Given the description of an element on the screen output the (x, y) to click on. 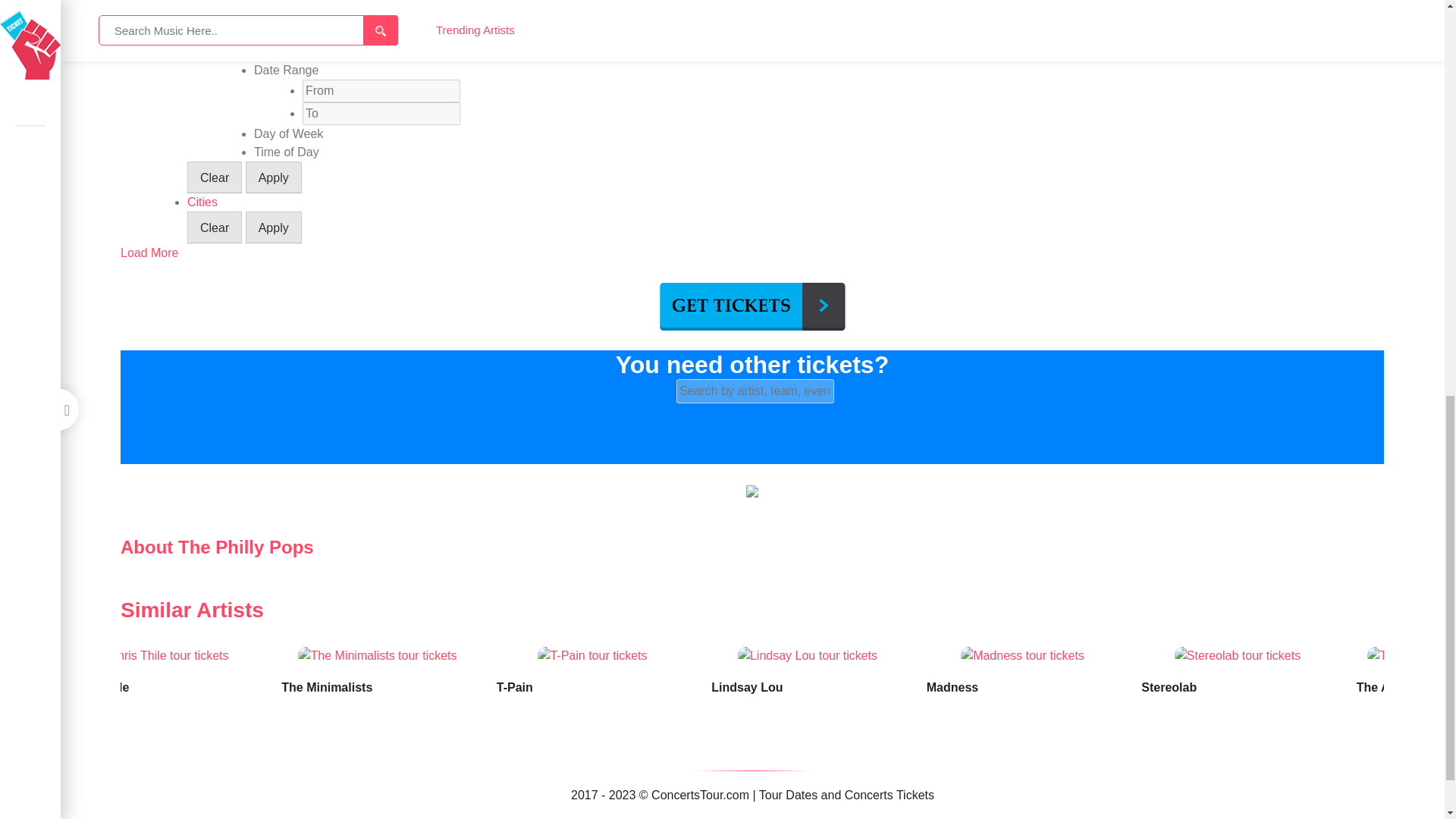
Apply (273, 177)
Apply (273, 227)
Dates (203, 51)
Clear (214, 177)
You need other tickets? (752, 364)
Load More (149, 252)
Cities (201, 201)
Clear (214, 227)
